Given the description of an element on the screen output the (x, y) to click on. 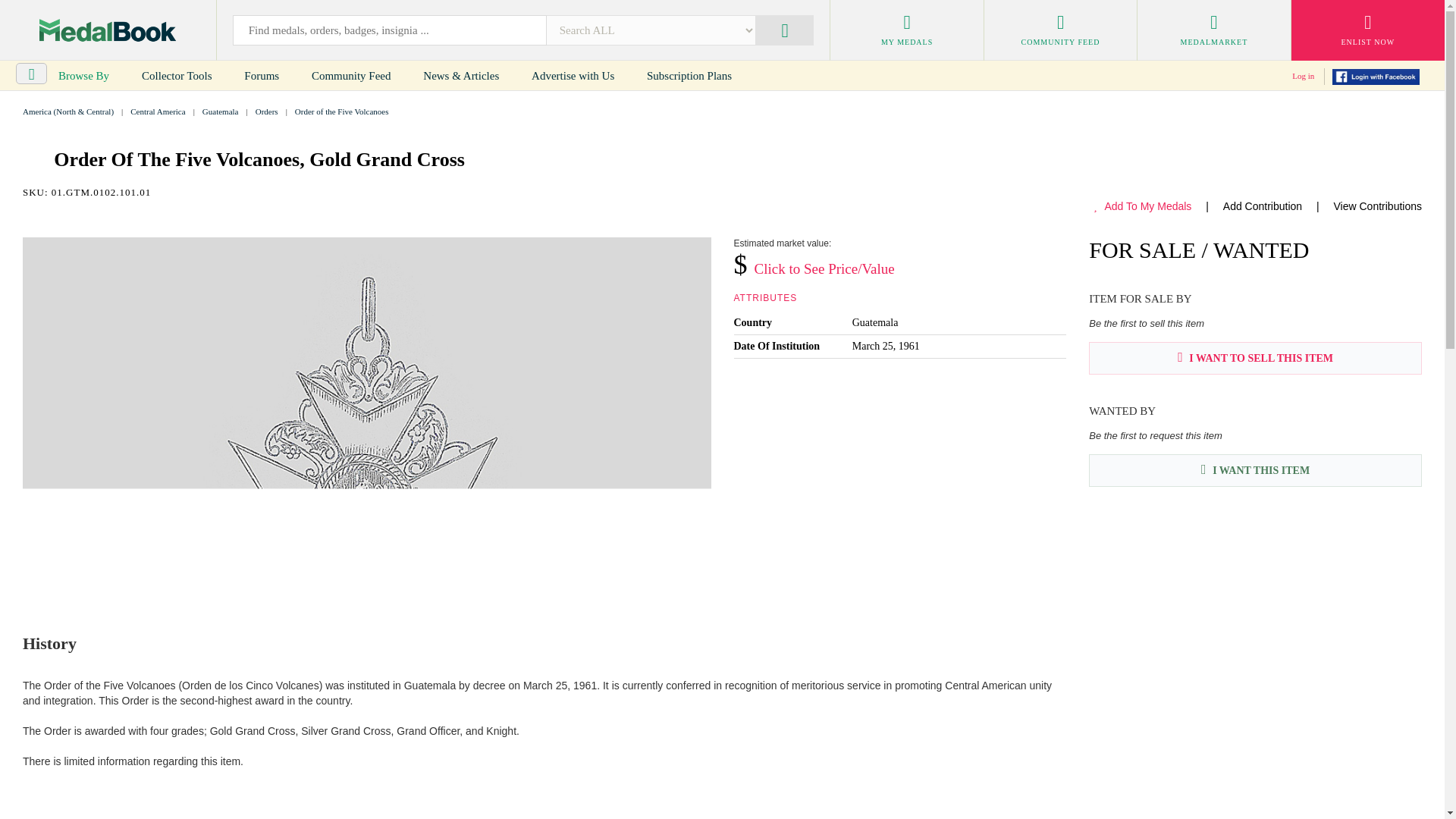
MedalMarket (1213, 30)
I WANT THIS ITEM (1255, 470)
I WANT TO SELL THIS ITEM (1255, 358)
Medalbook (107, 30)
Community Feed (351, 75)
Advertise with Us (572, 75)
Forums (261, 75)
Community Feed (1060, 30)
Subscription Plans (688, 75)
Orders (267, 111)
MEDALMARKET (1213, 30)
Guatemala (220, 111)
Medals (107, 30)
Collector Tools (176, 75)
Add Contribution (1262, 205)
